Given the description of an element on the screen output the (x, y) to click on. 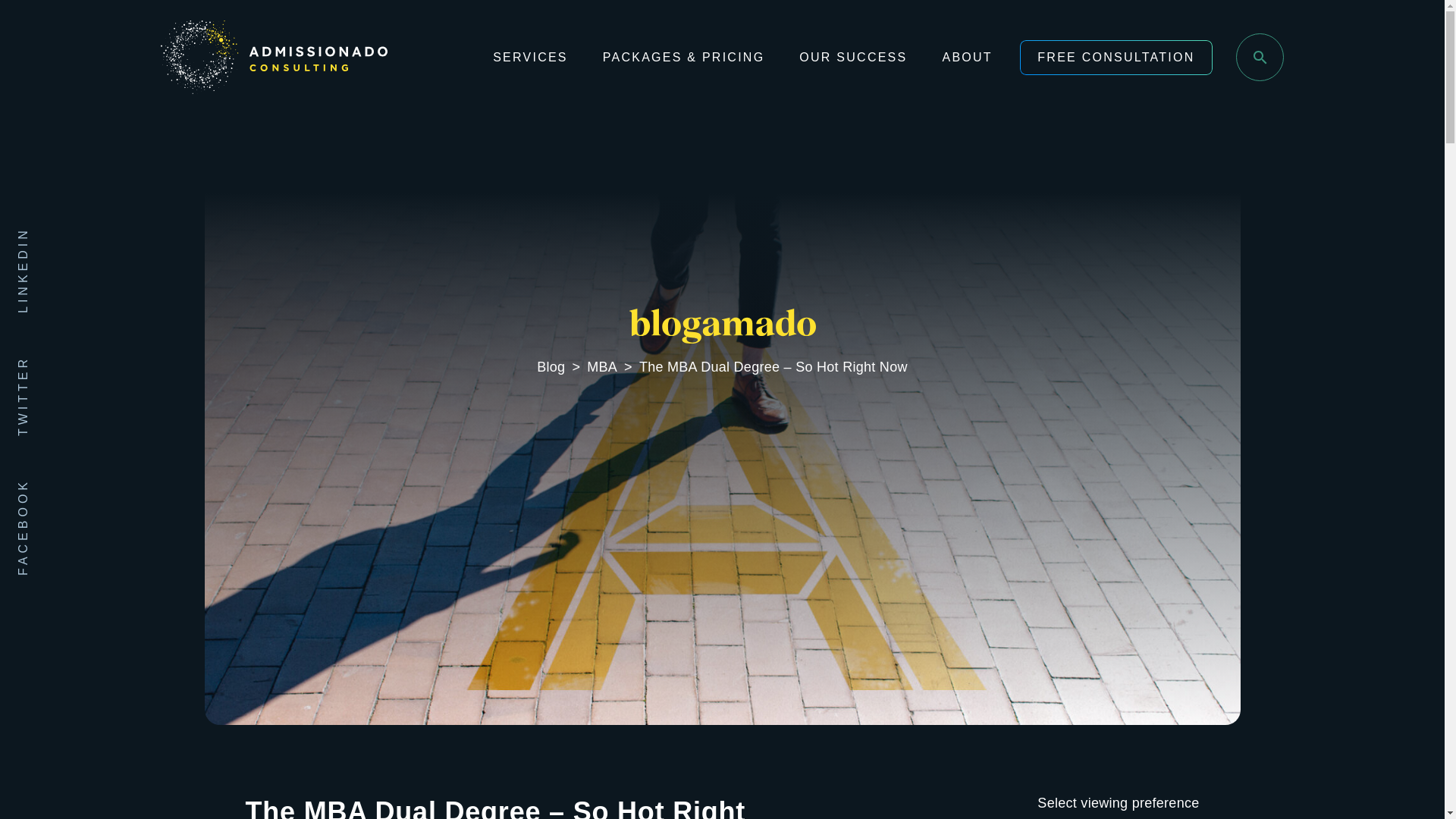
MBA (601, 366)
OUR SUCCESS (852, 57)
FREE CONSULTATION (1115, 57)
Blog (550, 366)
College (722, 159)
Testimonials (956, 159)
SERVICES (530, 57)
MBA (487, 159)
ABOUT (966, 57)
